Given the description of an element on the screen output the (x, y) to click on. 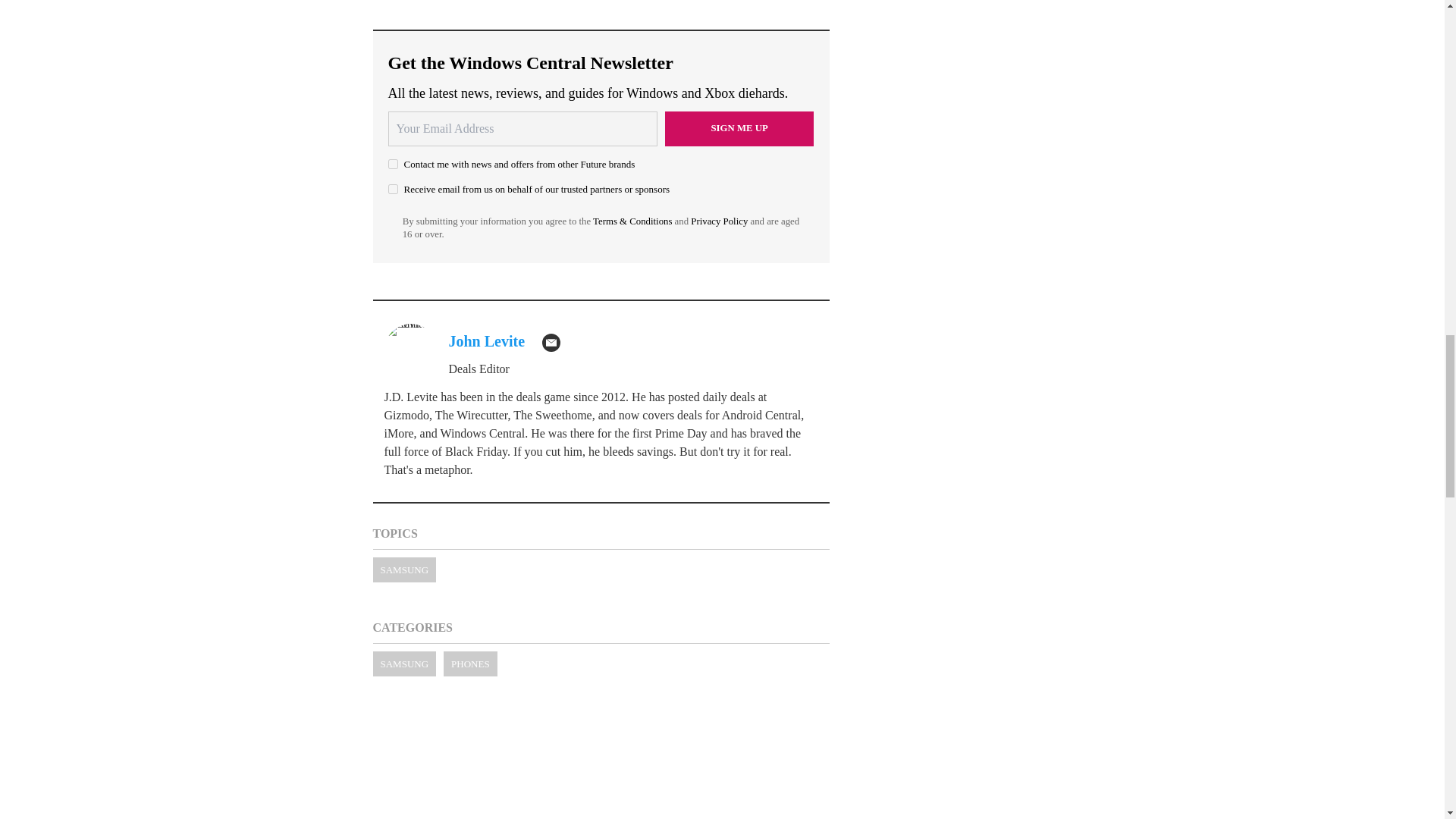
on (392, 163)
on (392, 189)
Sign me up (739, 128)
